Given the description of an element on the screen output the (x, y) to click on. 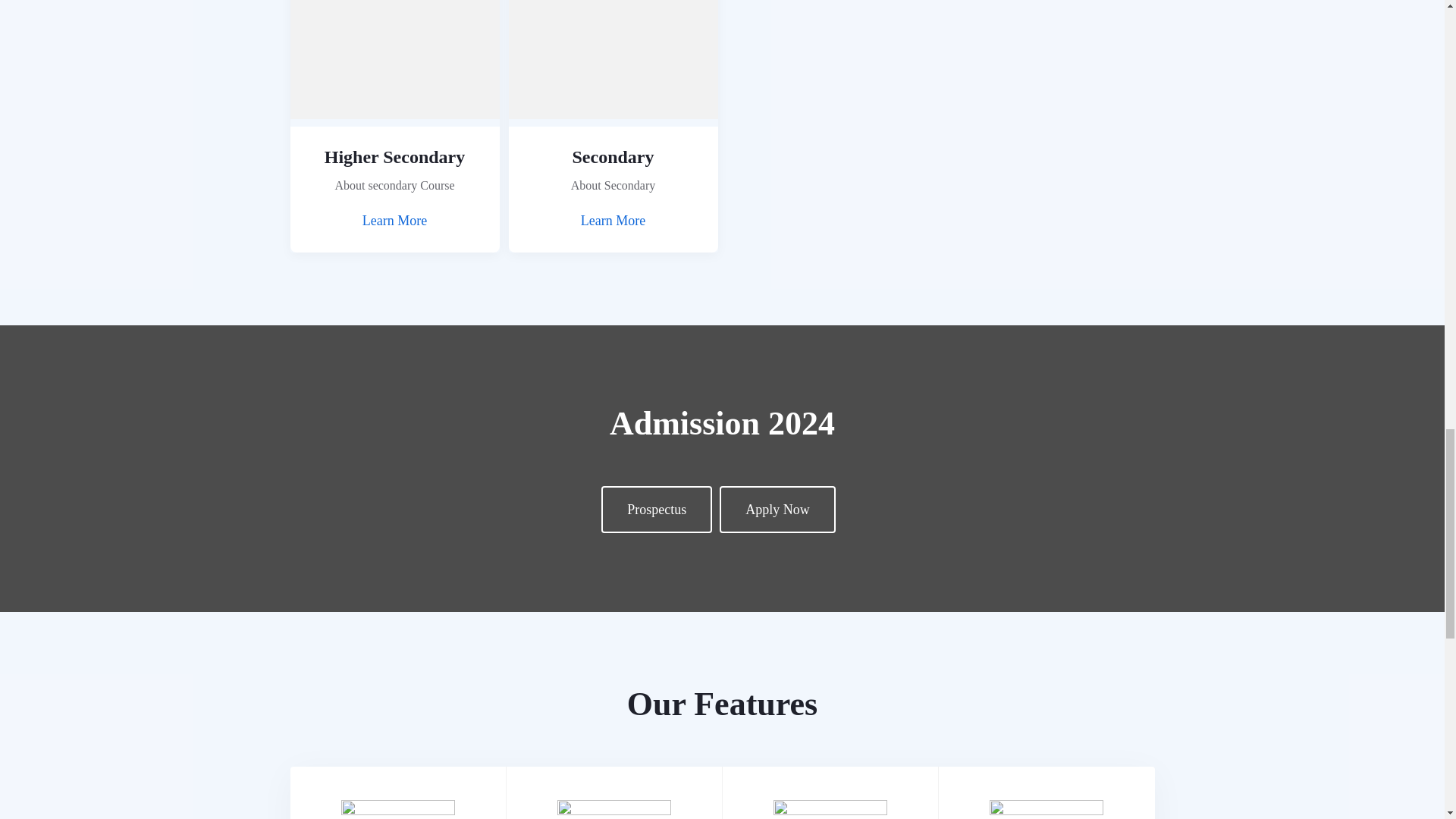
Higher Secondary (394, 157)
Prospectus (656, 509)
Learn More (394, 220)
Apply Now (777, 509)
Secondary (612, 157)
Learn More (612, 220)
